Given the description of an element on the screen output the (x, y) to click on. 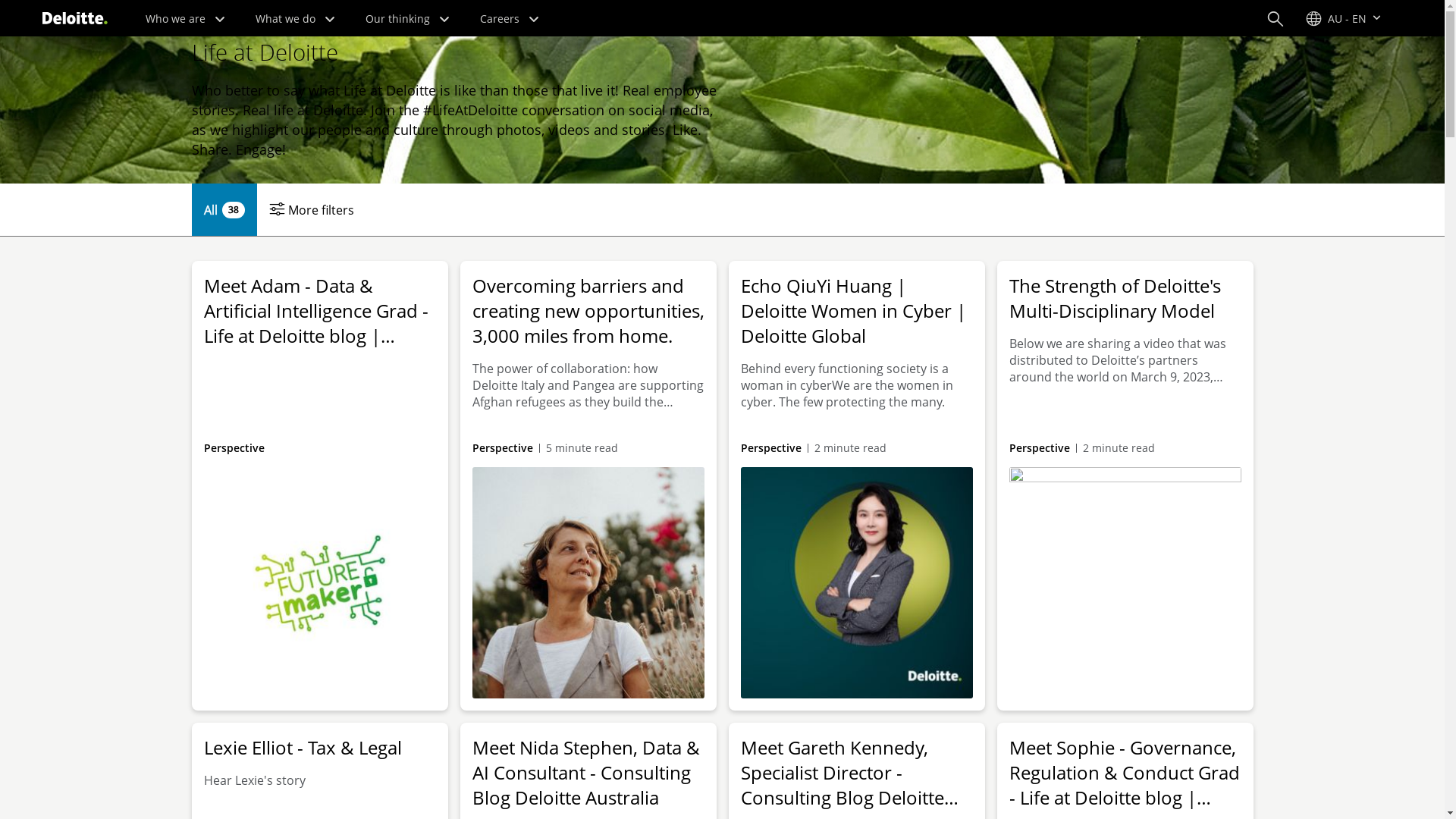
Our thinking Element type: text (407, 18)
All
38 Element type: text (223, 209)
AU - EN Element type: text (1342, 18)
Who we are Element type: text (185, 18)
More filters Element type: text (310, 209)
Careers Element type: text (509, 18)
Deloitte Element type: hover (74, 18)
What we do Element type: text (295, 18)
